Given the description of an element on the screen output the (x, y) to click on. 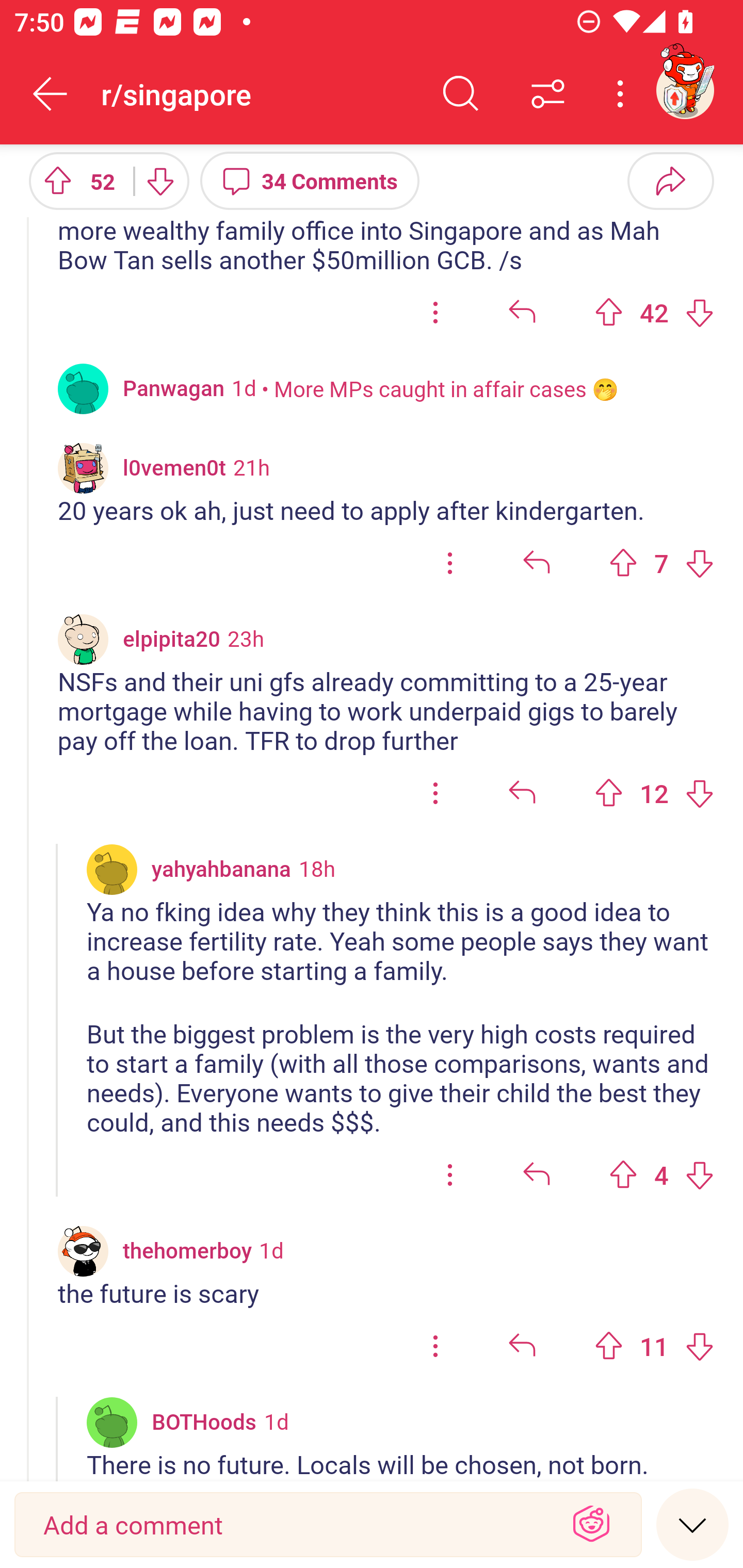
Back (50, 93)
TestAppium002 account (685, 90)
Search comments (460, 93)
Sort comments (547, 93)
More options (623, 93)
r/singapore (259, 92)
Upvote 52 (73, 180)
Downvote (158, 180)
34 Comments (309, 180)
Share (670, 180)
options (435, 311)
Upvote 42 42 votes Downvote (654, 311)
Avatar (82, 388)
Custom avatar (82, 467)
options (449, 562)
Upvote 7 7 votes Downvote (661, 562)
Custom avatar (82, 639)
options (435, 793)
Upvote 12 12 votes Downvote (654, 793)
Avatar (111, 868)
options (449, 1174)
Upvote 4 4 votes Downvote (661, 1174)
Custom avatar (82, 1251)
the future is scary (385, 1293)
options (435, 1346)
Upvote 11 11 votes Downvote (654, 1346)
Avatar (111, 1422)
Speed read (692, 1524)
Add a comment (291, 1524)
Show Expressions (590, 1524)
